Given the description of an element on the screen output the (x, y) to click on. 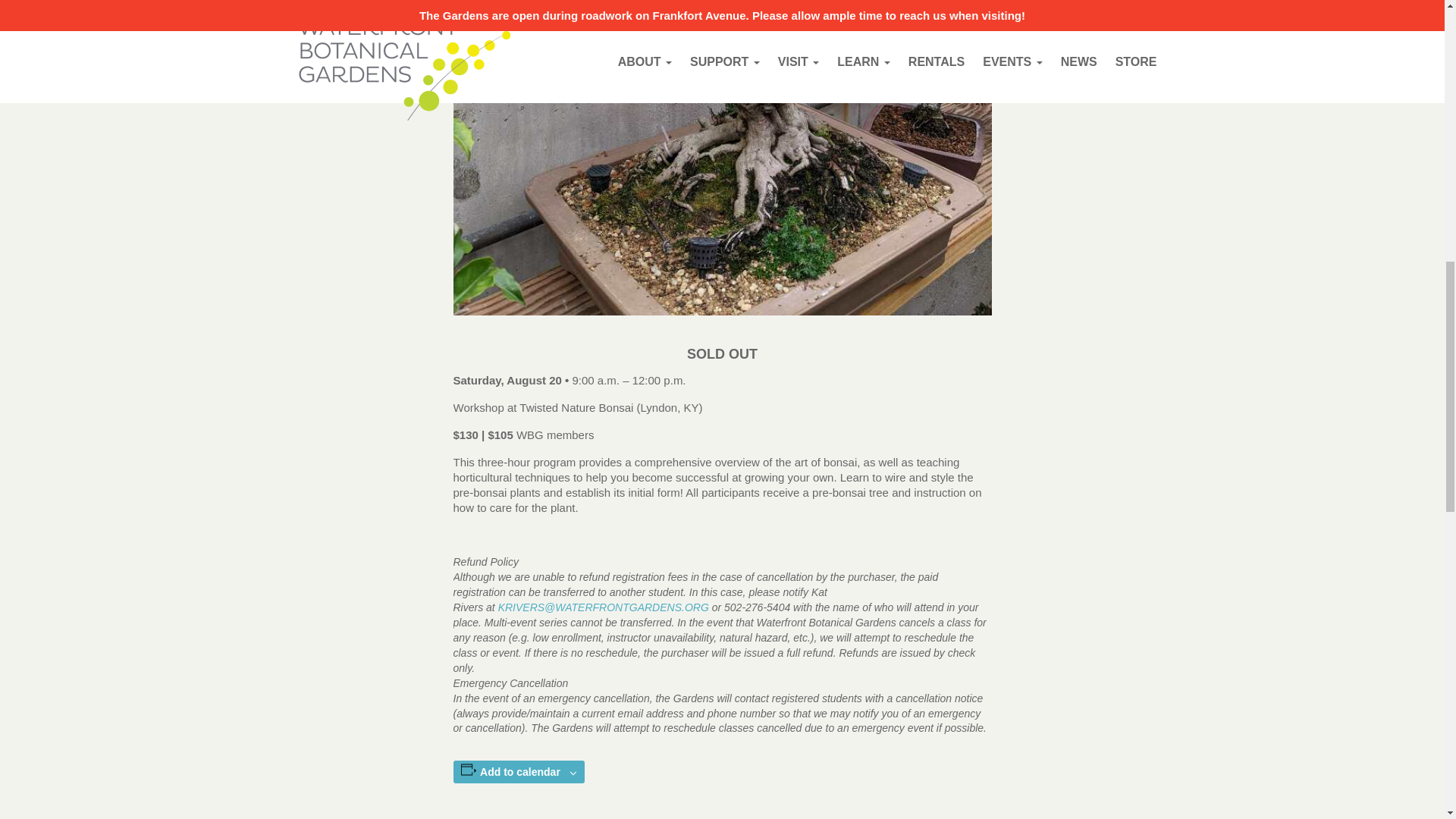
Add to calendar (520, 772)
